Given the description of an element on the screen output the (x, y) to click on. 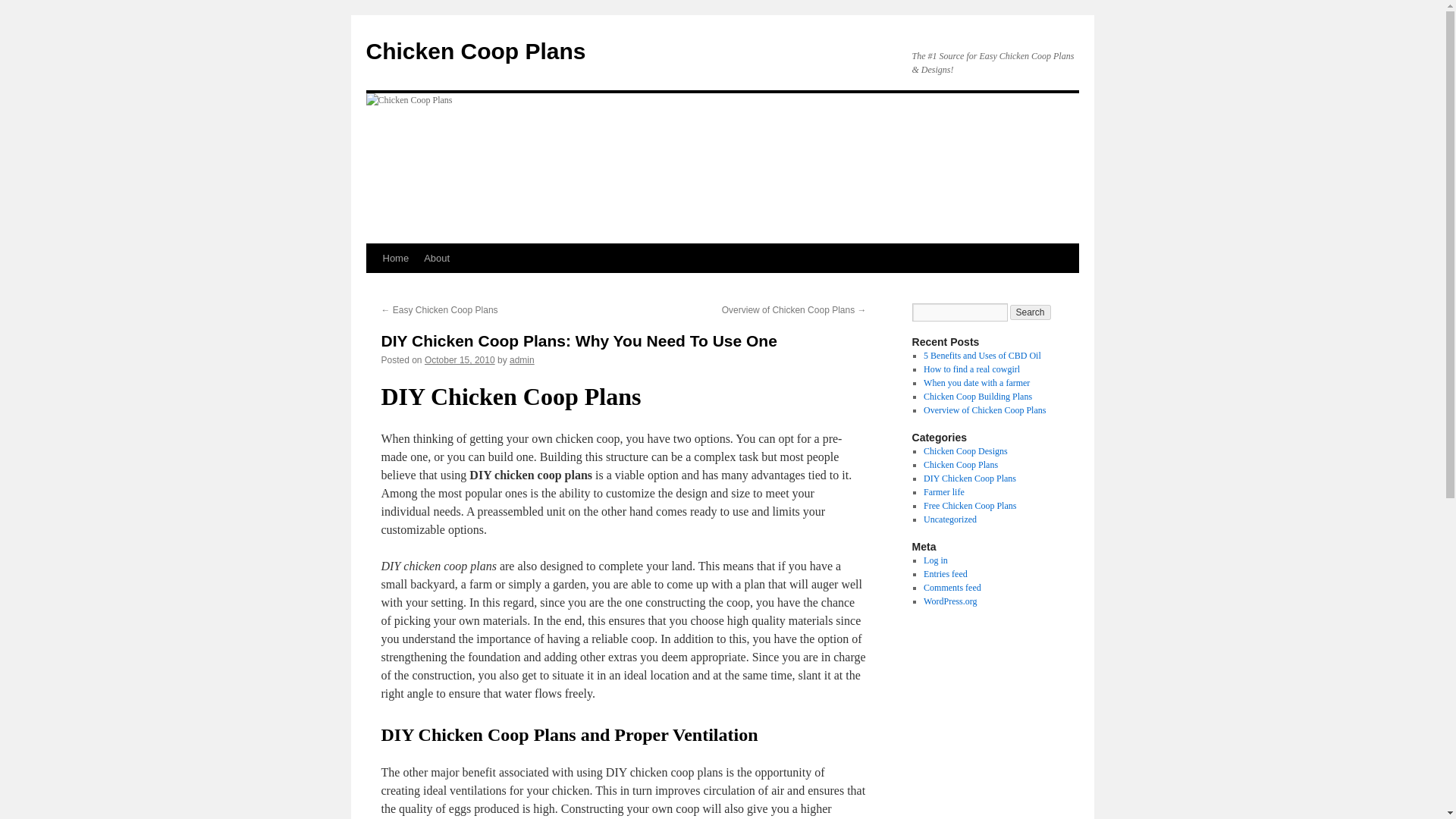
View all posts by admin (521, 359)
admin (521, 359)
Home (395, 258)
Free Chicken Coop Plans (969, 505)
Comments feed (952, 587)
Chicken Coop Plans (475, 50)
DIY Chicken Coop Plans (969, 478)
Entries feed (945, 573)
5 Benefits and Uses of CBD Oil (982, 355)
WordPress.org (949, 601)
